Given the description of an element on the screen output the (x, y) to click on. 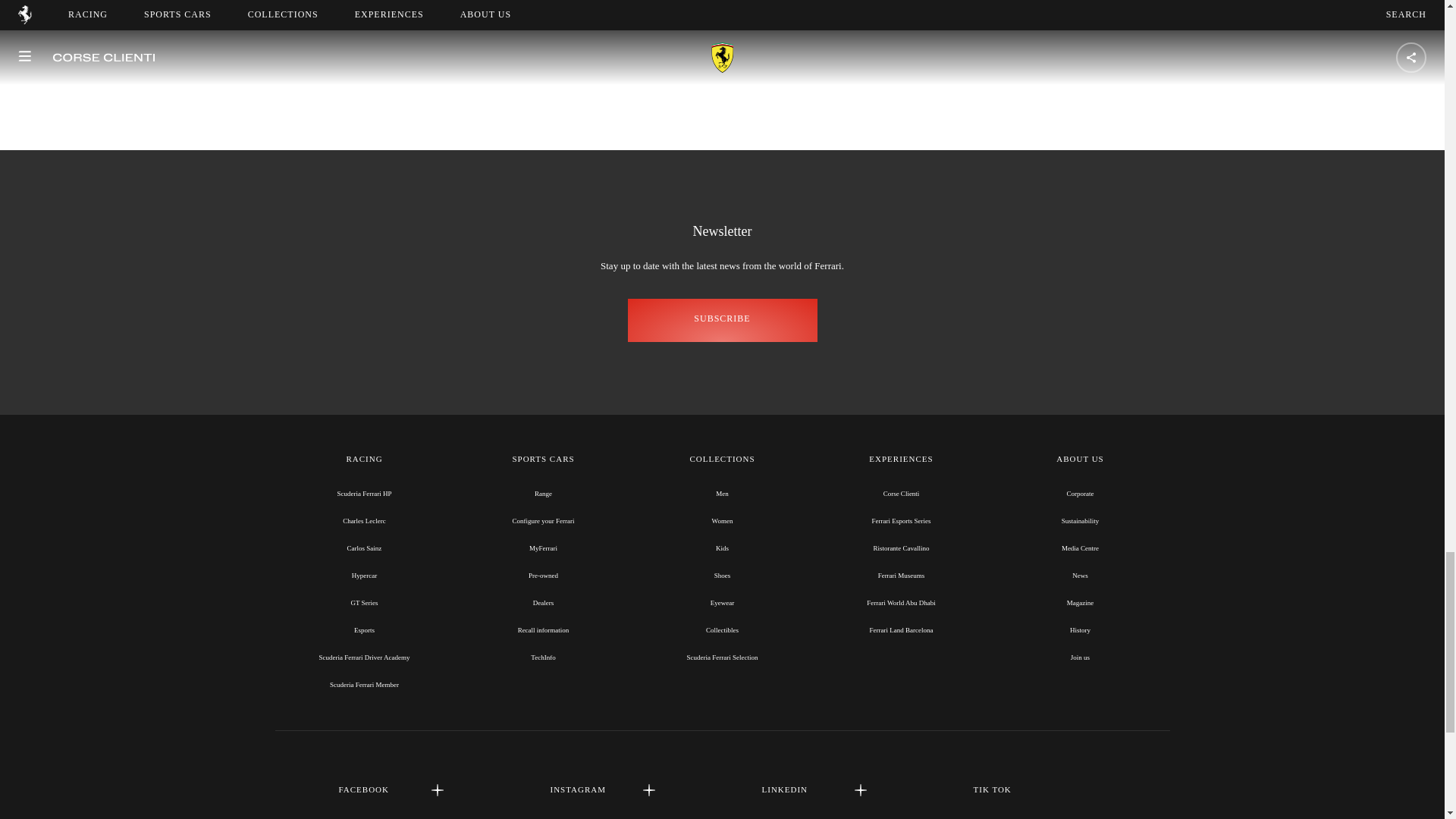
Scuderia Ferrari HP (363, 493)
Hypercar (364, 575)
Dealers (542, 602)
Pre-owned (542, 575)
GT Series (363, 602)
Scuderia Ferrari Driver Academy (363, 656)
Scuderia Ferrari Member (364, 684)
Configure your Ferrari (543, 520)
Range (542, 493)
Carlos Sainz (364, 548)
SUBSCRIBE (721, 320)
MyFerrari (543, 548)
Esports (363, 629)
Charles Leclerc (363, 520)
